Given the description of an element on the screen output the (x, y) to click on. 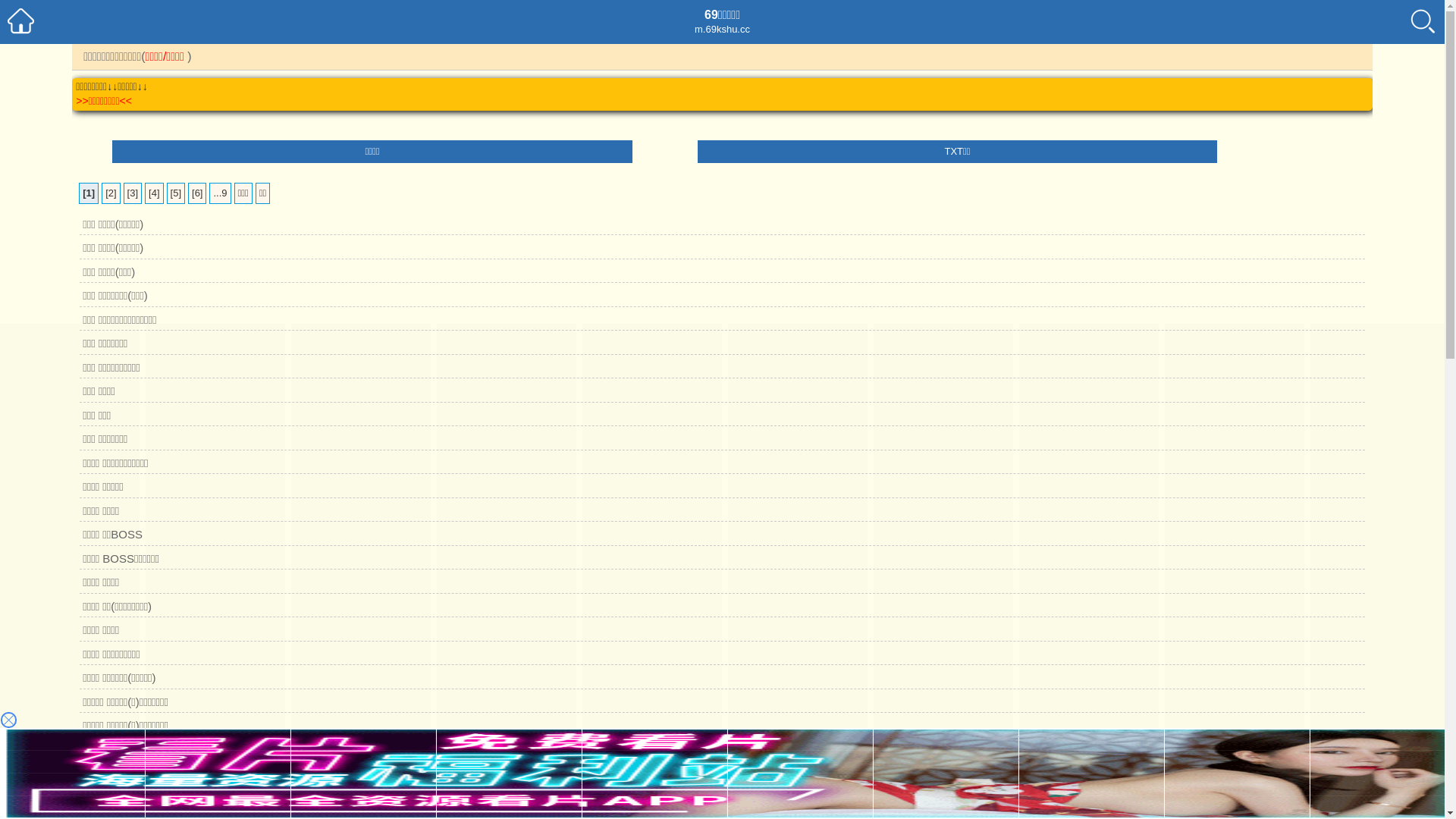
[2] Element type: text (110, 192)
[5] Element type: text (175, 192)
[6] Element type: text (197, 192)
[3] Element type: text (132, 192)
[4] Element type: text (153, 192)
...9 Element type: text (219, 192)
